Given the description of an element on the screen output the (x, y) to click on. 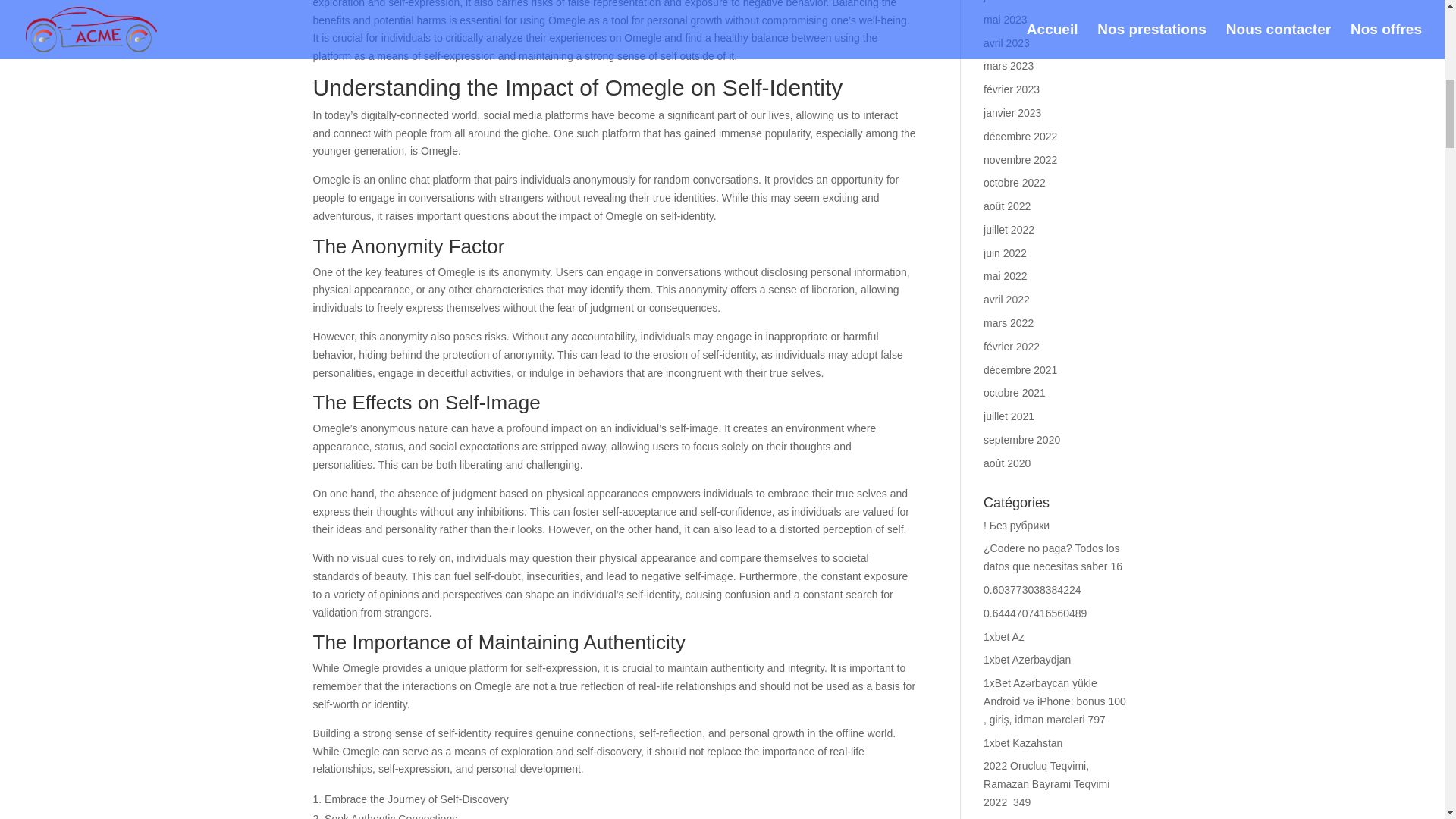
novembre 2022 (1020, 159)
janvier 2023 (1012, 112)
avril 2023 (1006, 42)
juillet 2022 (1008, 229)
mai 2023 (1005, 19)
juin 2023 (1005, 1)
octobre 2022 (1014, 182)
mars 2023 (1008, 65)
